Given the description of an element on the screen output the (x, y) to click on. 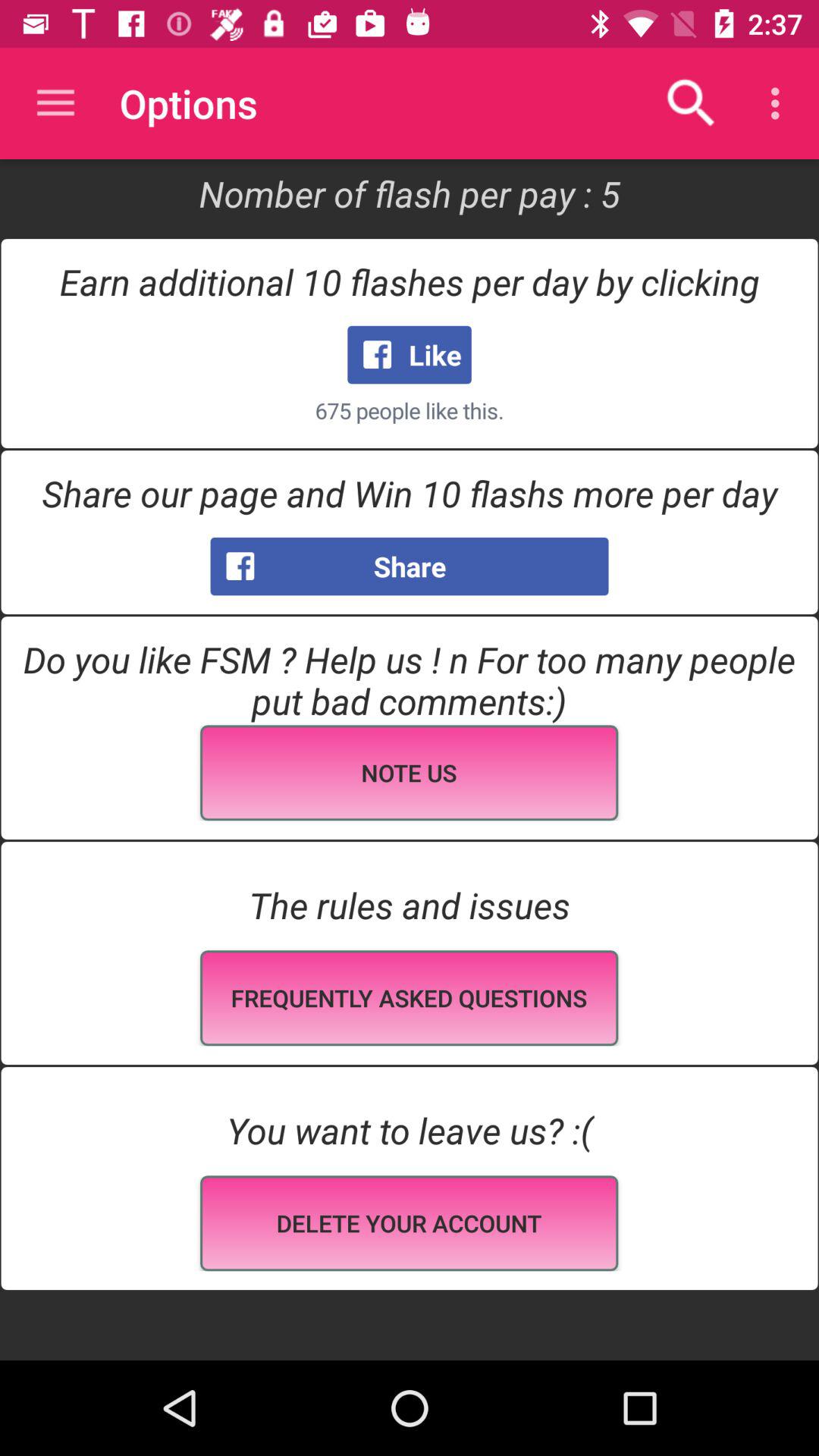
click on the frequently asked qustions field (408, 997)
click on facebook like button (409, 355)
